Given the description of an element on the screen output the (x, y) to click on. 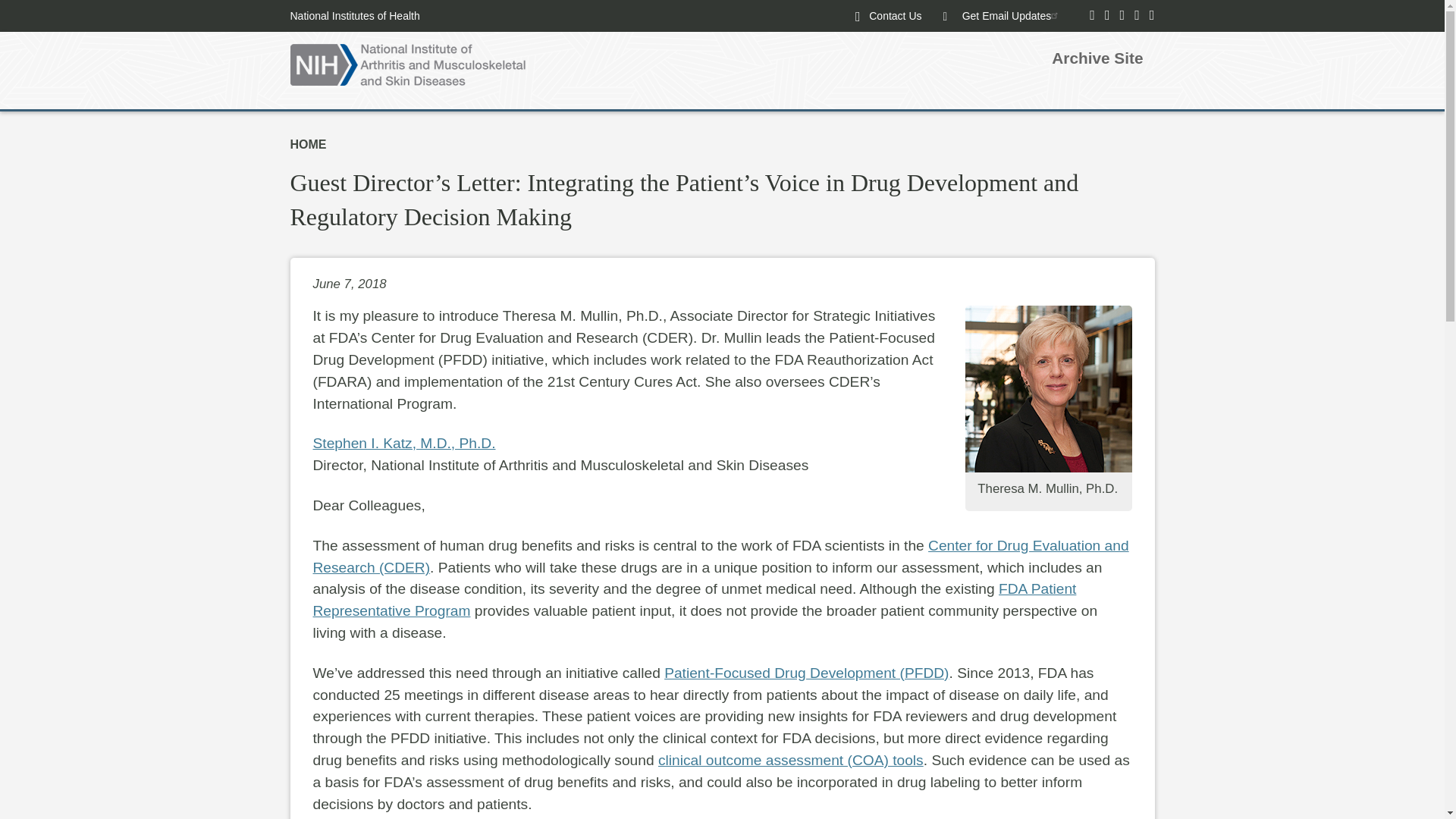
Contact Us (895, 15)
National Institutes of Health (354, 15)
Theresa M. Mullin, Ph.D. (1047, 388)
FDA Patient Representative Program (694, 599)
Stephen I. Katz, M.D., Ph.D. (404, 442)
